Given the description of an element on the screen output the (x, y) to click on. 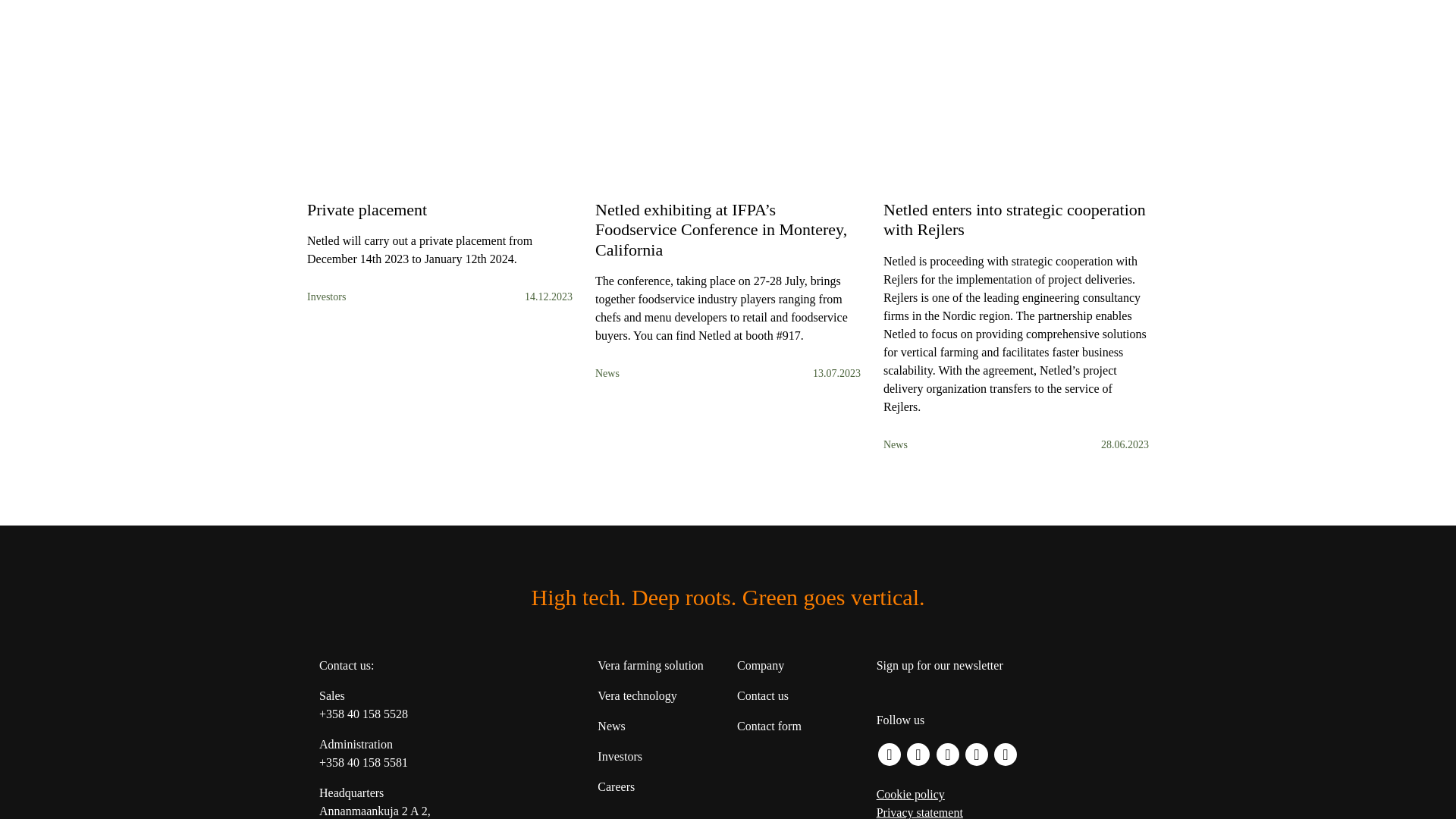
Vera farming solution (649, 665)
Private placement (439, 233)
Netled social media link (889, 753)
Vera technology (636, 695)
Netled enters into strategic cooperation with Rejlers (1015, 307)
